Given the description of an element on the screen output the (x, y) to click on. 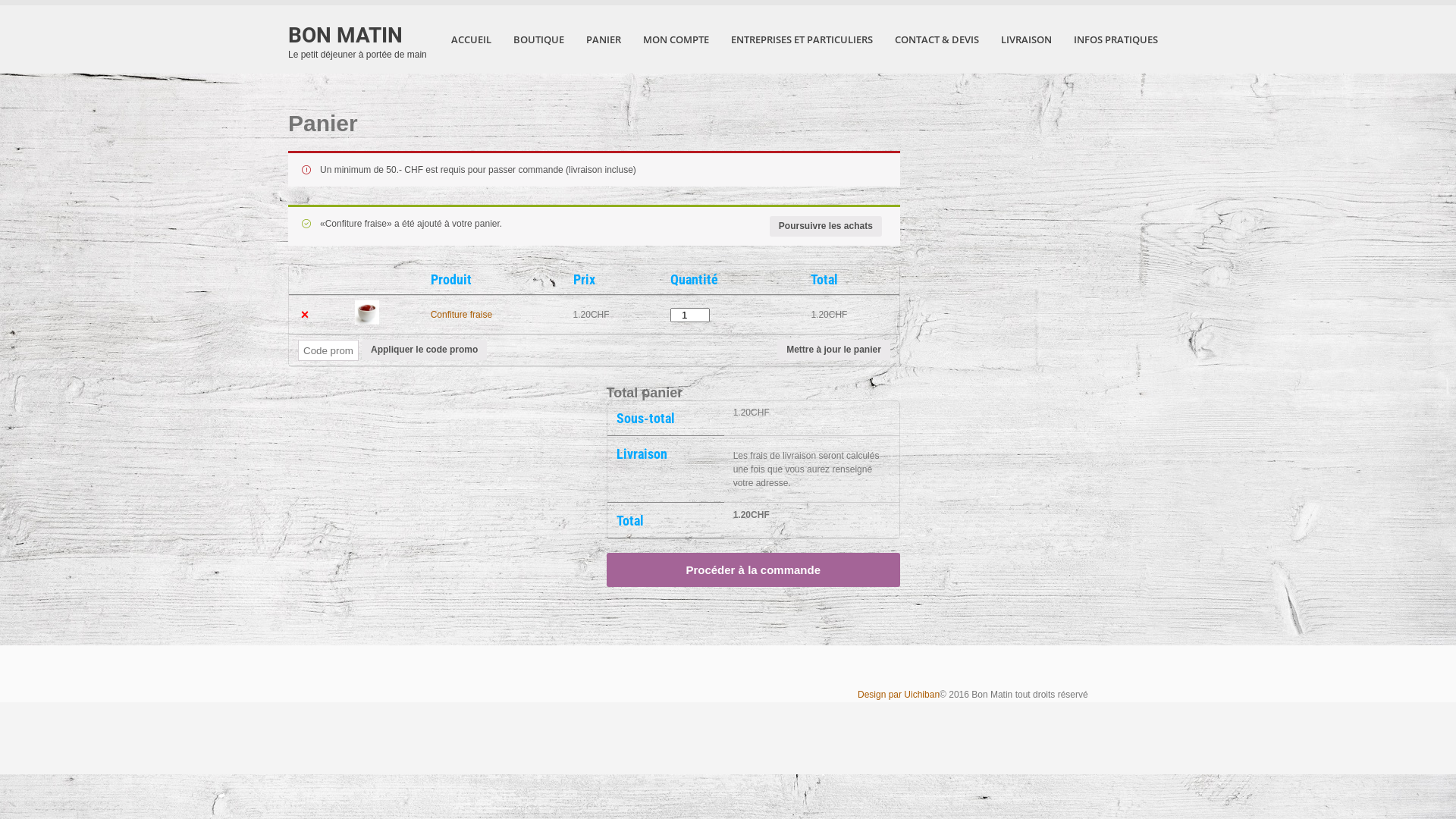
Design par Uichiban Element type: text (898, 694)
LIVRAISON Element type: text (1026, 39)
PANIER Element type: text (603, 39)
MON COMPTE Element type: text (675, 39)
Poursuivre les achats Element type: text (825, 226)
Confiture fraise Element type: text (461, 314)
Appliquer le code promo Element type: text (423, 349)
ACCUEIL Element type: text (471, 39)
ENTREPRISES ET PARTICULIERS Element type: text (801, 39)
CONTACT & DEVIS Element type: text (936, 39)
BOUTIQUE Element type: text (538, 39)
INFOS PRATIQUES Element type: text (1115, 39)
